Given the description of an element on the screen output the (x, y) to click on. 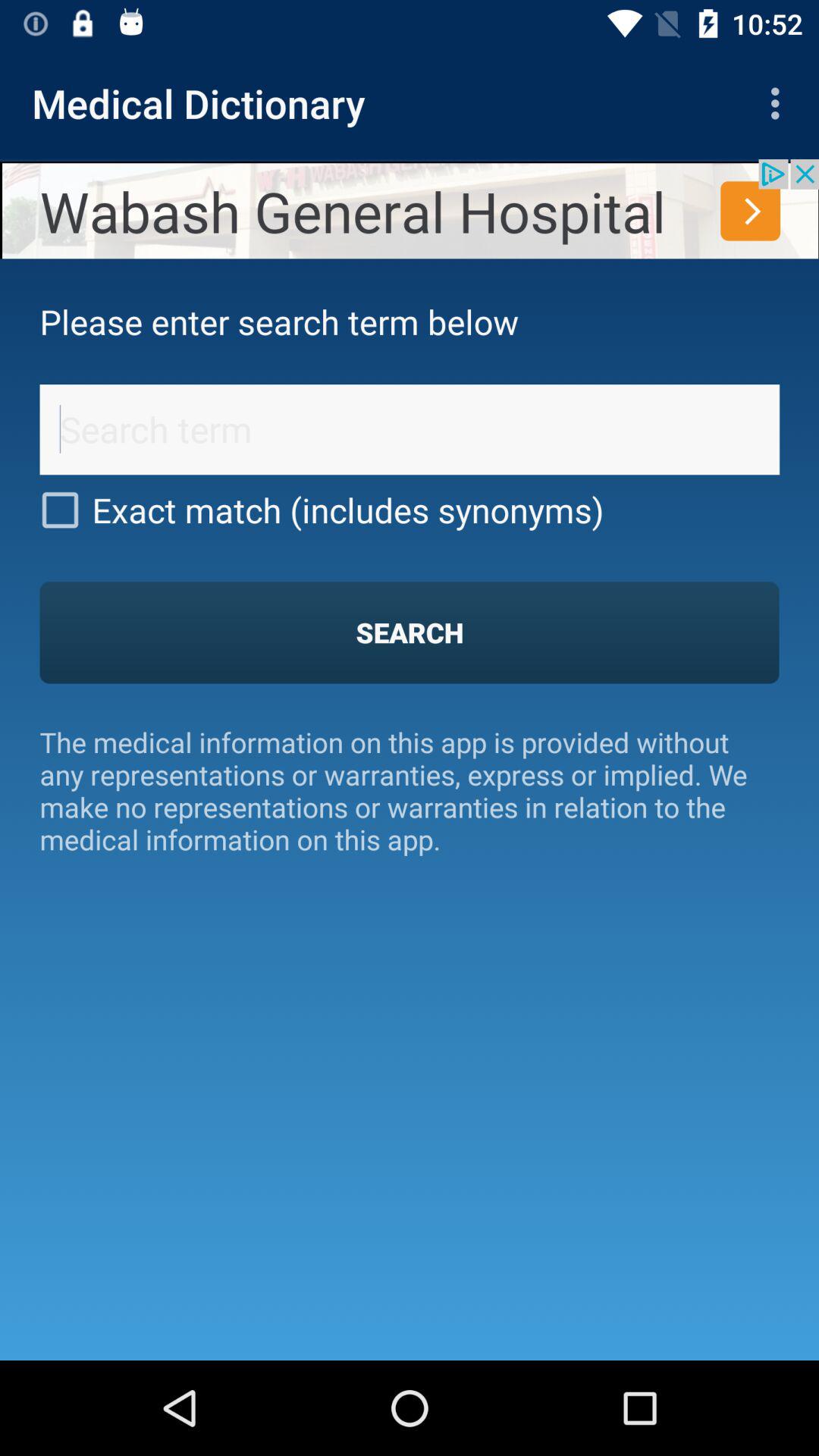
advertisement button (409, 208)
